Given the description of an element on the screen output the (x, y) to click on. 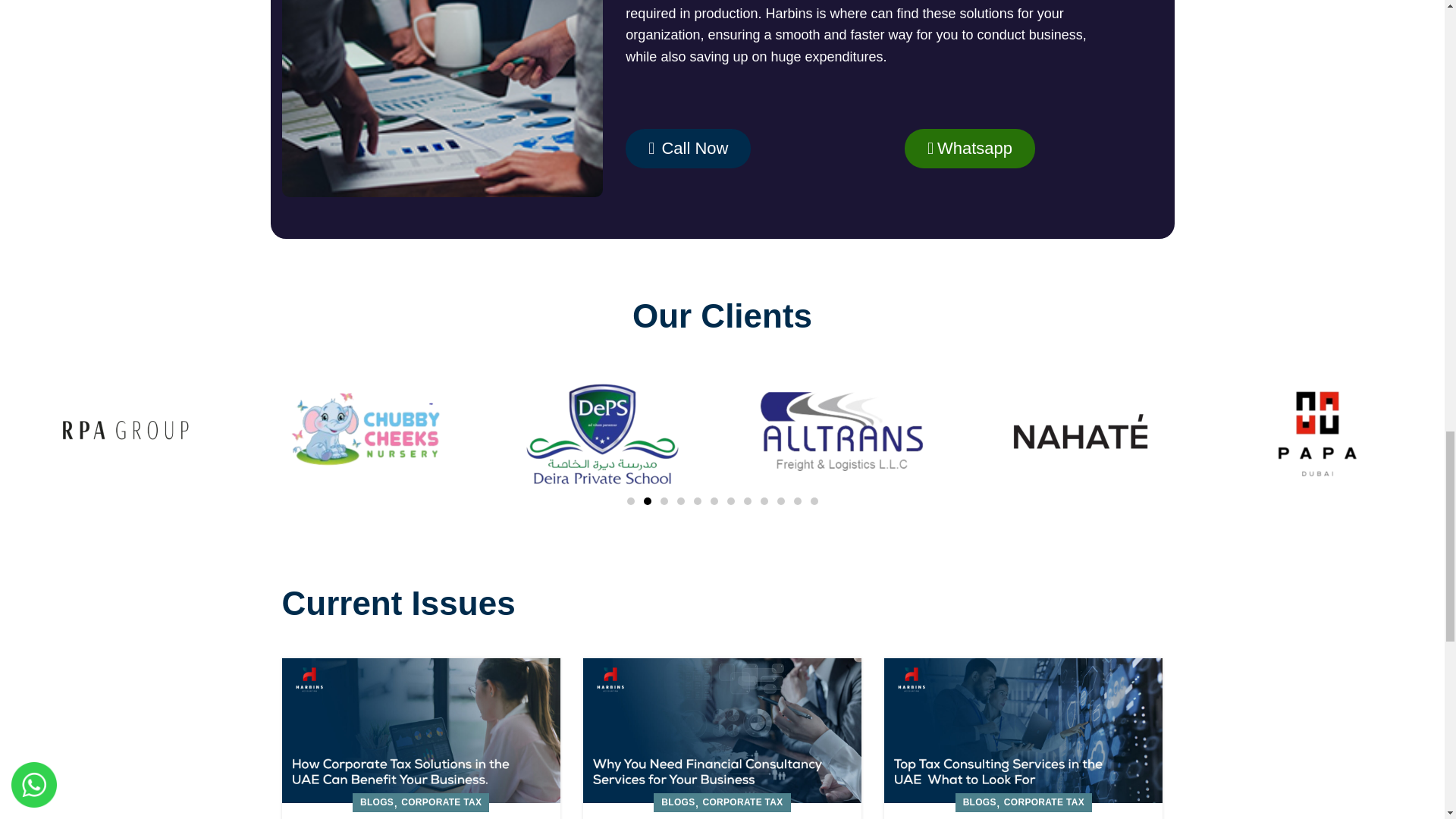
CORPORATE TAX (441, 802)
Whatsapp (969, 148)
Call Now (688, 148)
BLOGS (376, 802)
